Given the description of an element on the screen output the (x, y) to click on. 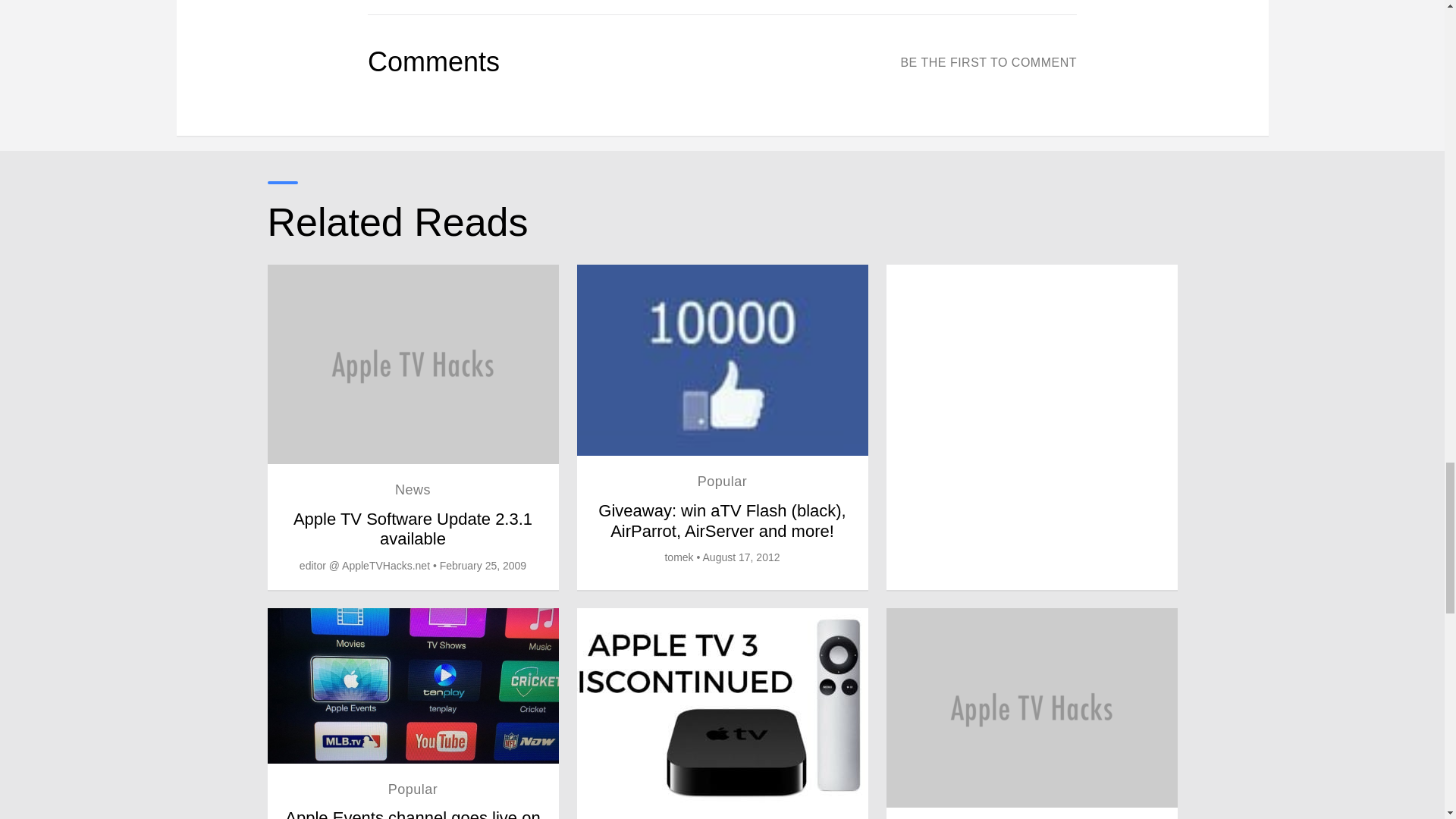
Popular (722, 481)
News (412, 489)
Posts by tomek (678, 557)
Popular (413, 789)
